Given the description of an element on the screen output the (x, y) to click on. 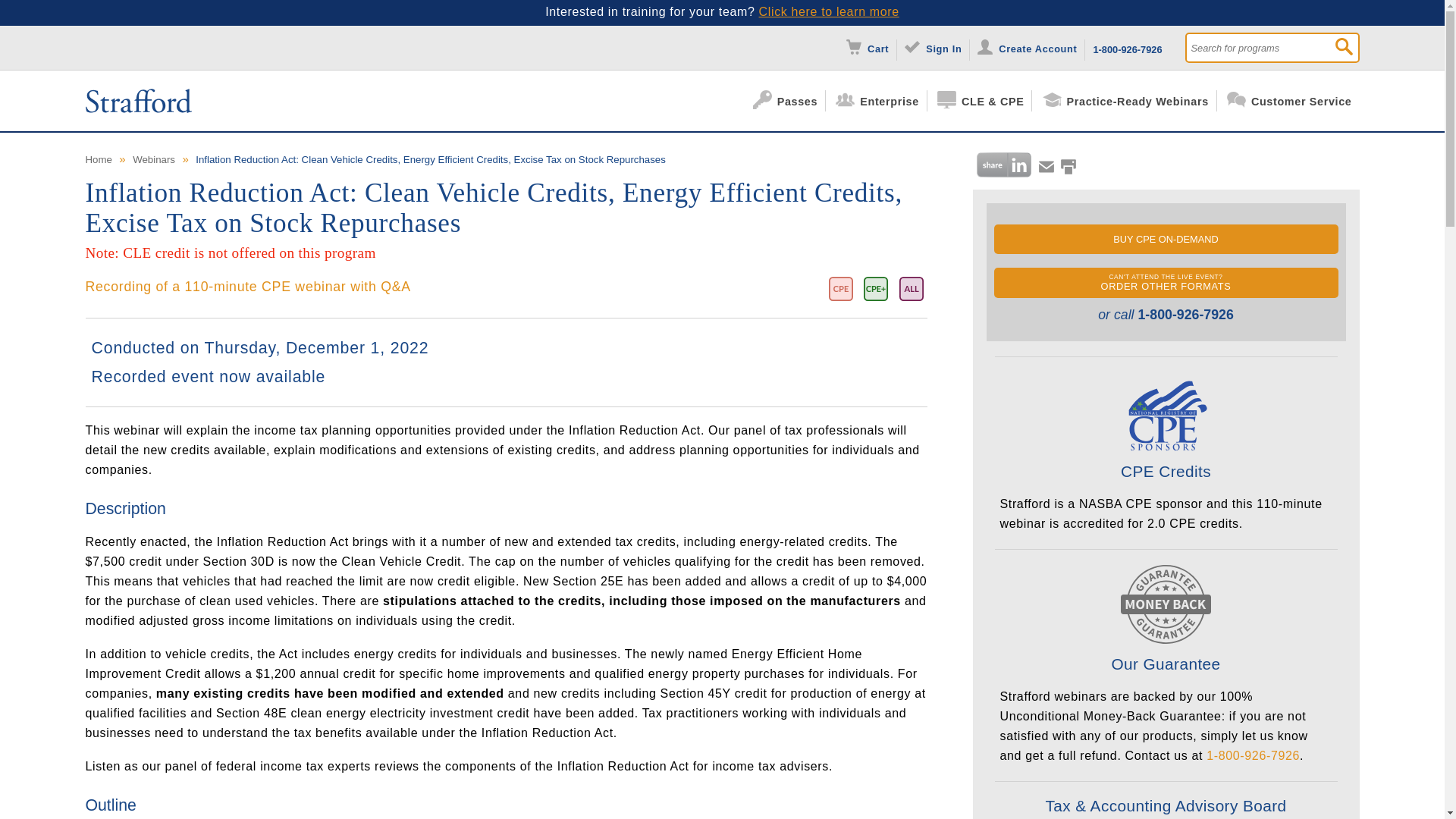
Create Account (1030, 46)
Sign In (936, 46)
Passes (788, 100)
Buy CPE On-Demand (1165, 238)
1-800-926-7926 (1126, 47)
Click here to learn more (828, 11)
Enterprise (880, 100)
Cart (870, 46)
